Given the description of an element on the screen output the (x, y) to click on. 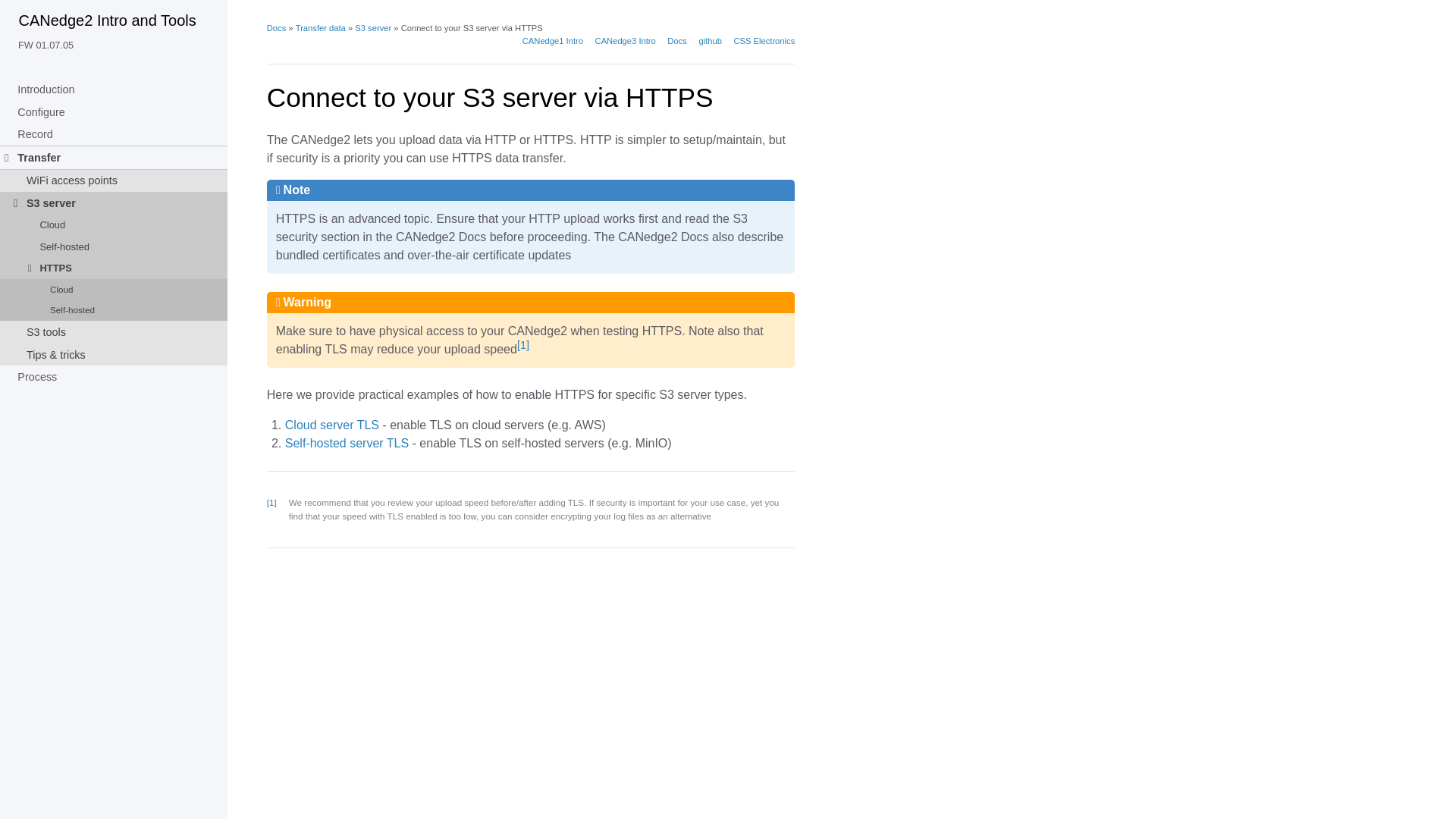
Introduction (113, 88)
CANedge1 Intro (552, 40)
Cloud server TLS (331, 424)
Record (113, 133)
S3 server (113, 202)
github (709, 40)
Docs (276, 27)
Process (113, 376)
Transfer (113, 157)
Transfer data (320, 27)
CSS Electronics (763, 40)
Docs (676, 40)
Configure (113, 111)
HTTPS (113, 268)
CANedge3 Intro (625, 40)
